Given the description of an element on the screen output the (x, y) to click on. 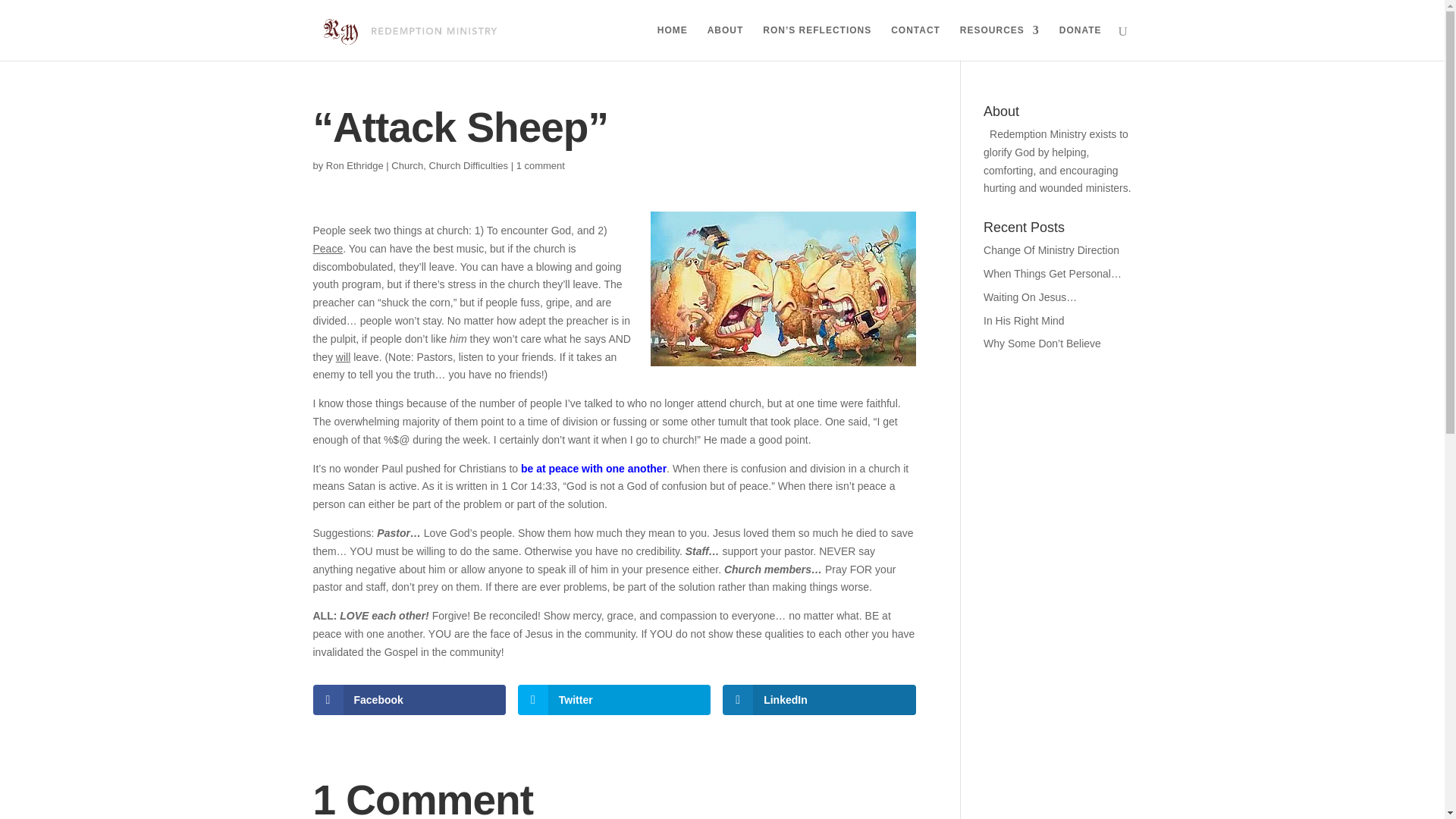
Change Of Ministry Direction (1051, 250)
CONTACT (915, 42)
ABOUT (725, 42)
DONATE (1080, 42)
LinkedIn (818, 699)
Church (407, 164)
Church Difficulties (468, 164)
Facebook (409, 699)
1 comment (540, 164)
Ron Ethridge (355, 164)
In His Right Mind (1024, 320)
Twitter (614, 699)
Posts by Ron Ethridge (355, 164)
be at peace with one another (593, 468)
RESOURCES (999, 42)
